Given the description of an element on the screen output the (x, y) to click on. 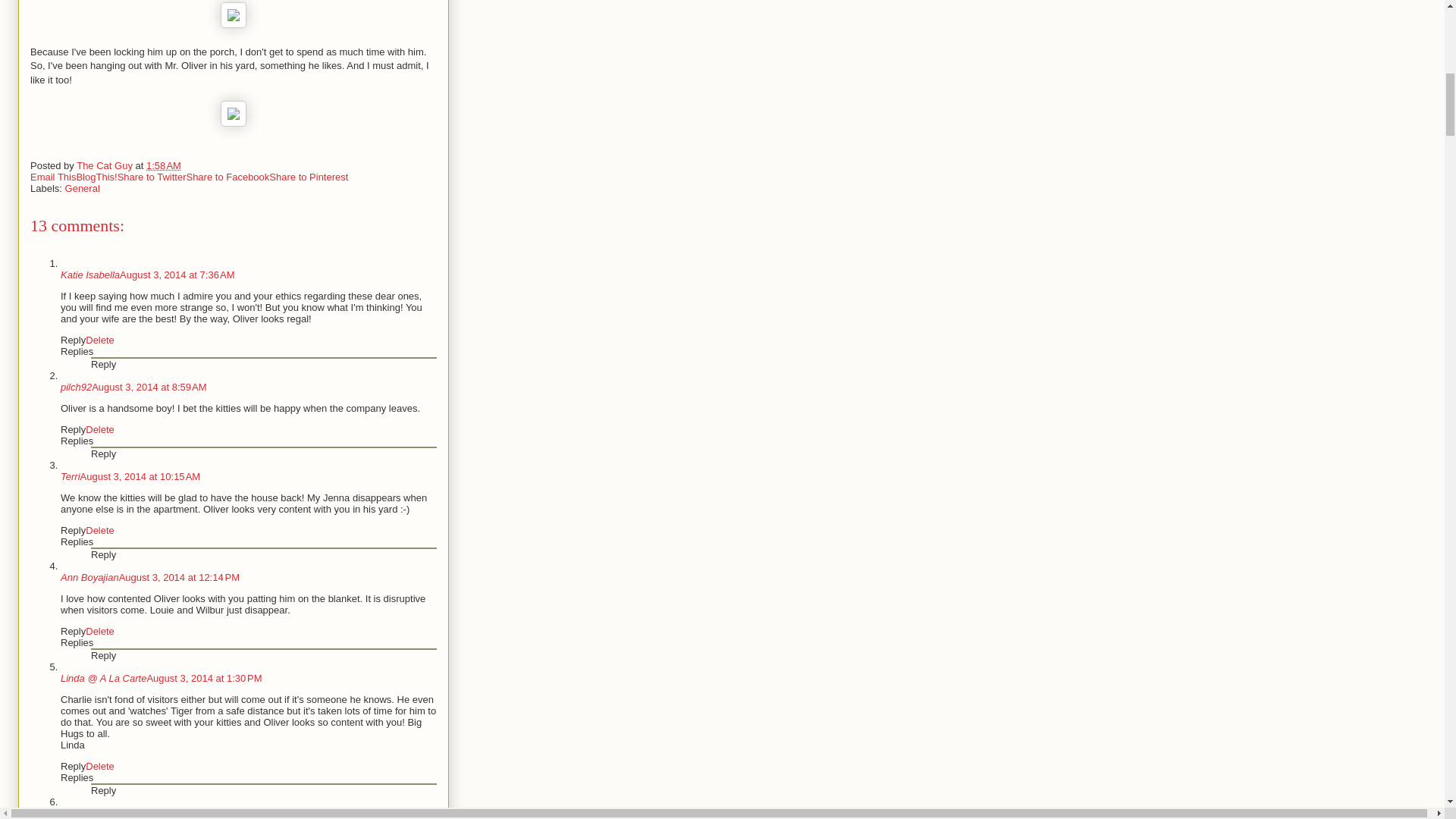
Share to Twitter (151, 176)
Katie Isabella (90, 274)
Replies (77, 440)
Share to Pinterest (308, 176)
General (82, 188)
Delete (100, 339)
Delete (100, 429)
Reply (73, 339)
Share to Twitter (151, 176)
Replies (77, 351)
BlogThis! (95, 176)
Share to Pinterest (308, 176)
permanent link (163, 165)
